Given the description of an element on the screen output the (x, y) to click on. 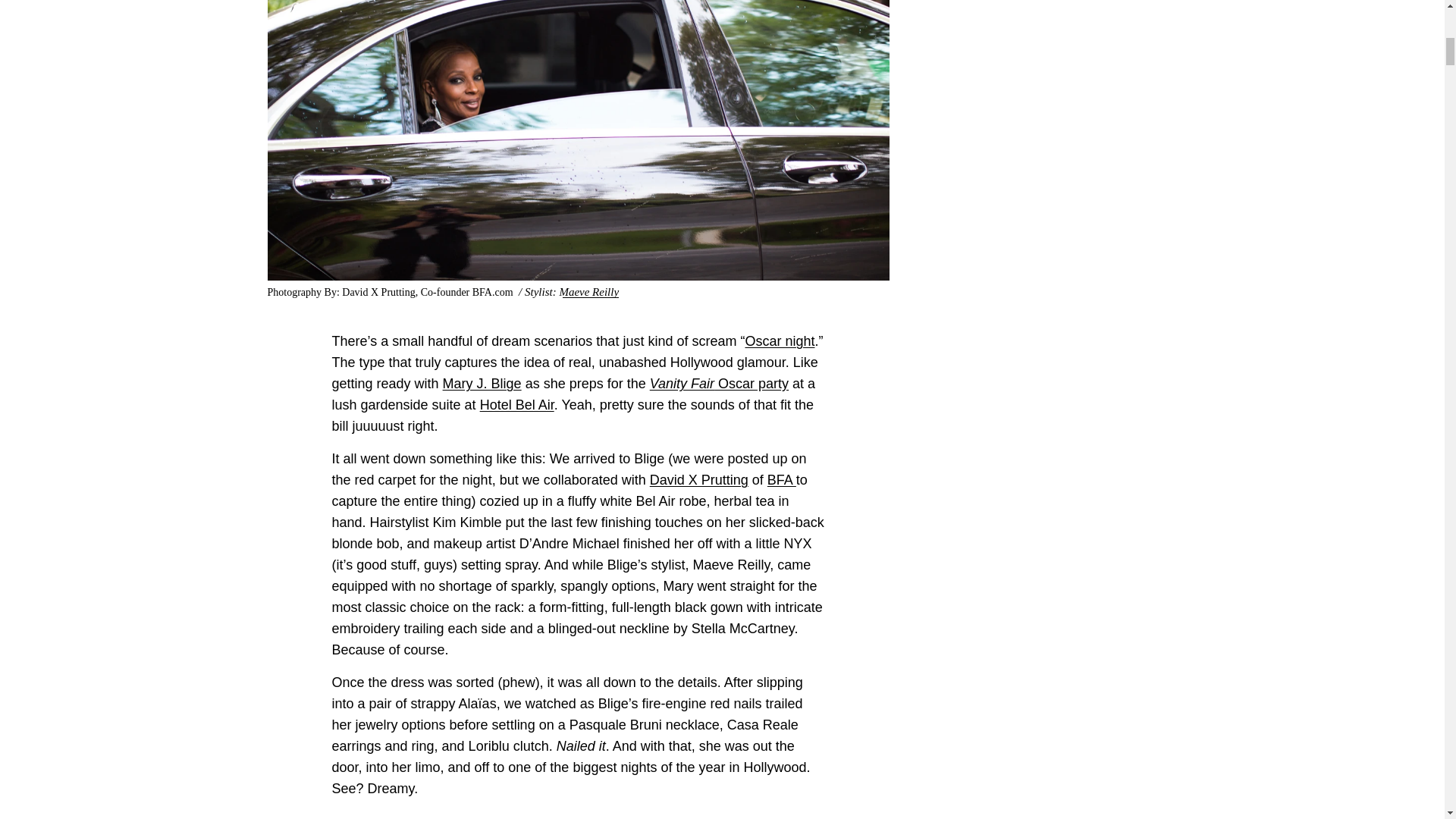
David X Prutting (698, 479)
BFA (781, 479)
Hotel Bel Air (517, 404)
Mary J. Blige (481, 383)
Oscar night (778, 340)
Vanity Fair Oscar party (719, 383)
